Given the description of an element on the screen output the (x, y) to click on. 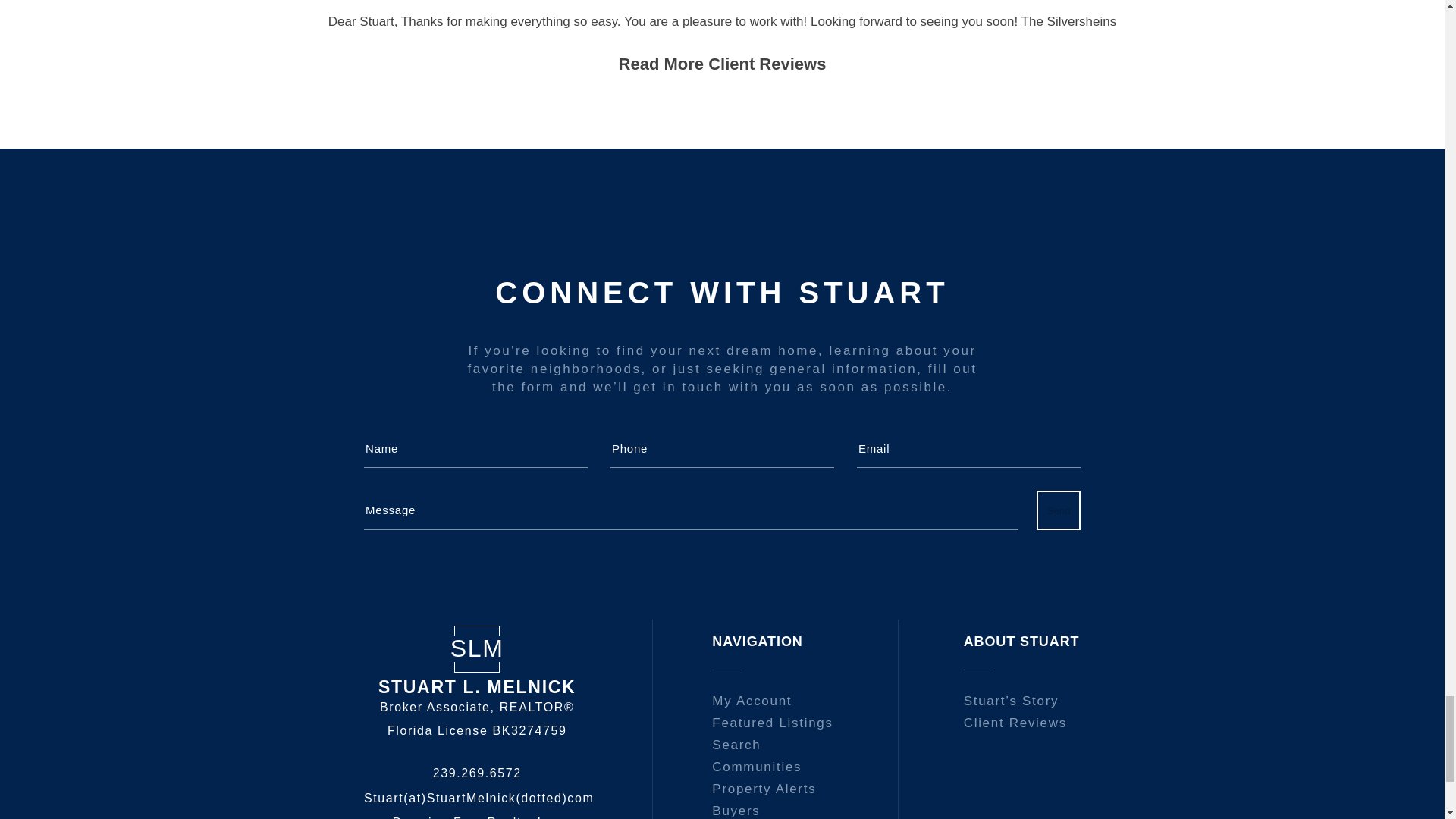
Read More Client Reviews (722, 63)
Send (1058, 509)
Send (1058, 509)
